Given the description of an element on the screen output the (x, y) to click on. 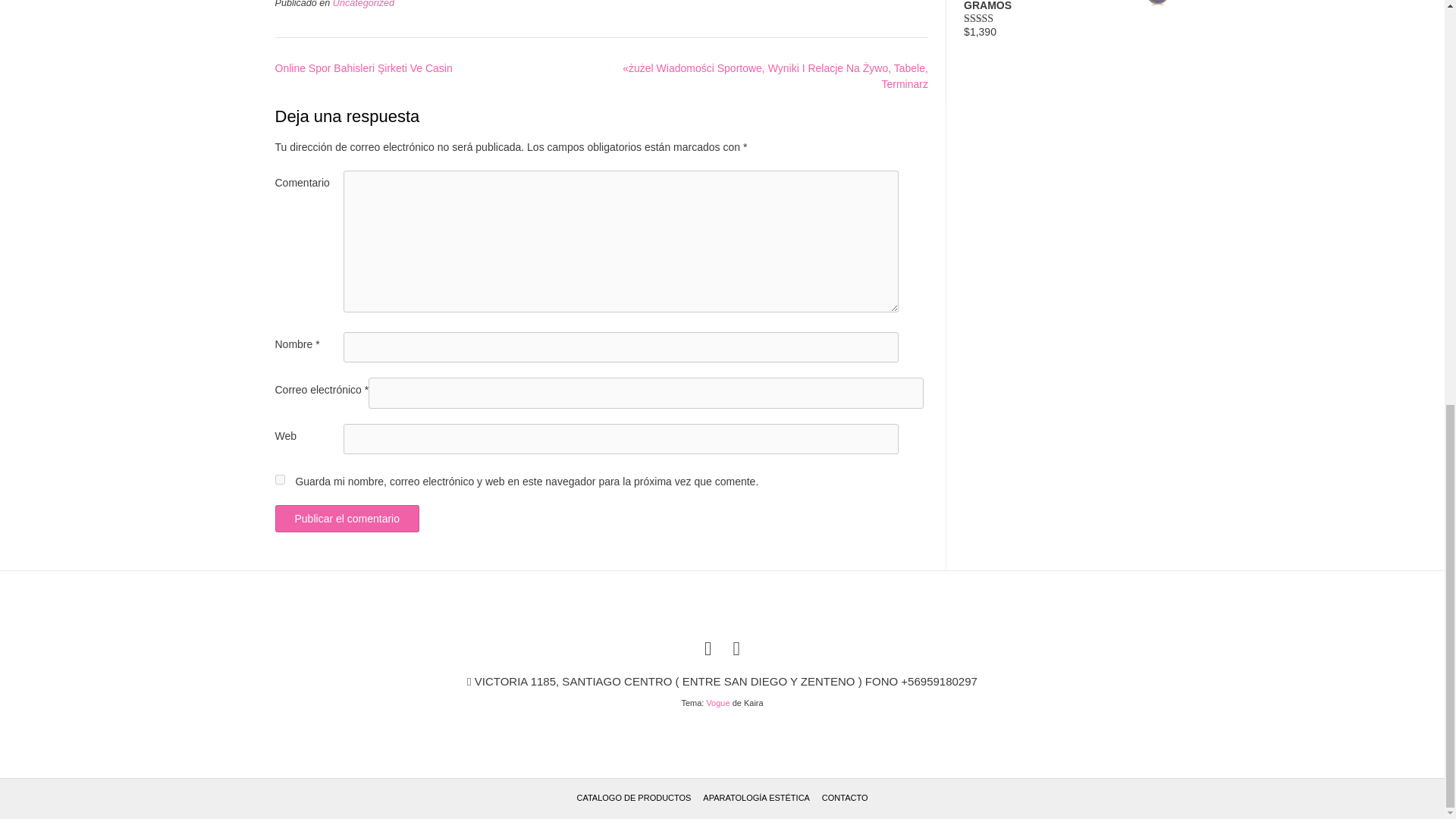
GRASA DE MULA POMADA 50 GRAMOS (1066, 6)
Publicar el comentario (347, 518)
CATALOGO DE PRODUCTOS (633, 797)
CONTACTO (844, 797)
Publicar el comentario (347, 518)
yes (279, 479)
Uncategorized (363, 4)
Vogue (717, 702)
